Given the description of an element on the screen output the (x, y) to click on. 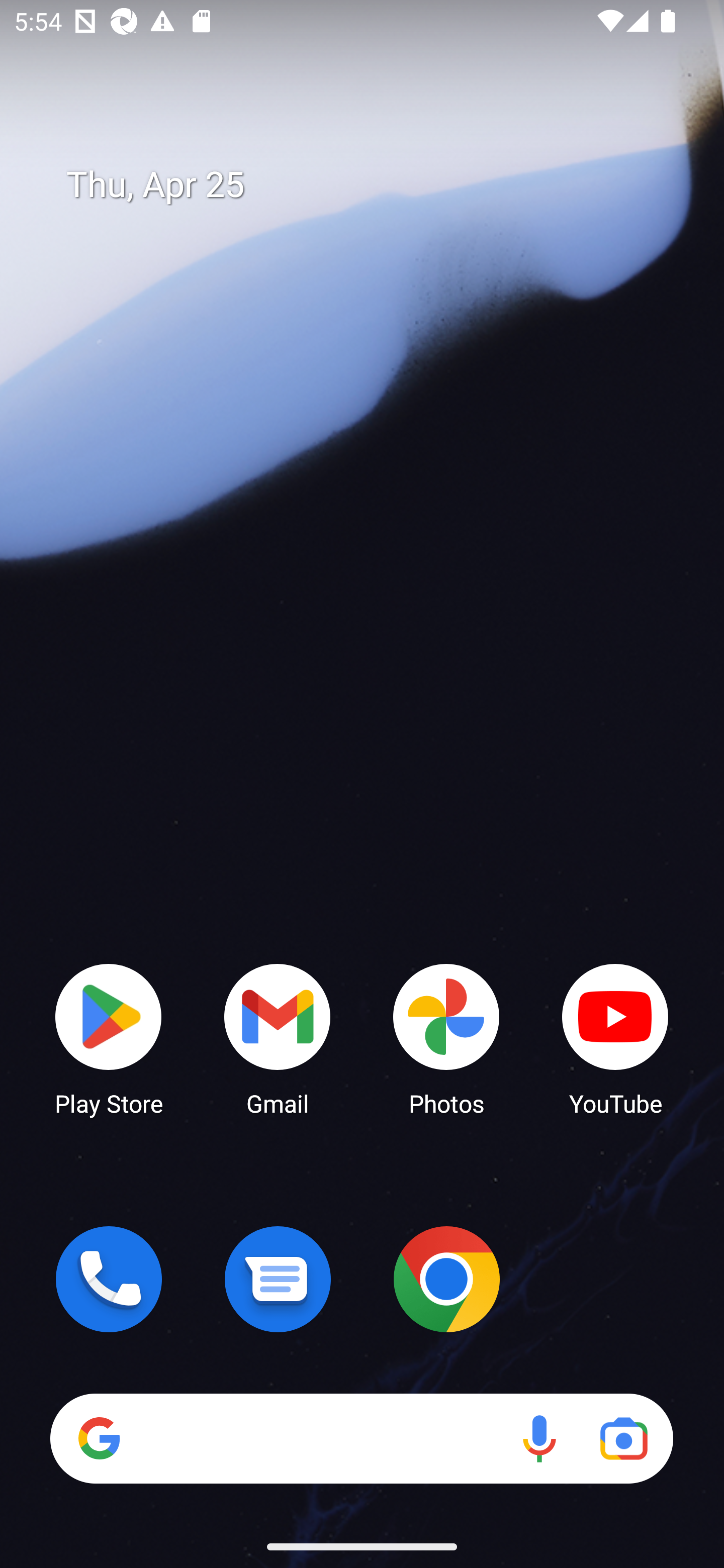
Thu, Apr 25 (375, 184)
Play Store (108, 1038)
Gmail (277, 1038)
Photos (445, 1038)
YouTube (615, 1038)
Phone (108, 1279)
Messages (277, 1279)
Chrome (446, 1279)
Search Voice search Google Lens (361, 1438)
Voice search (539, 1438)
Google Lens (623, 1438)
